Given the description of an element on the screen output the (x, y) to click on. 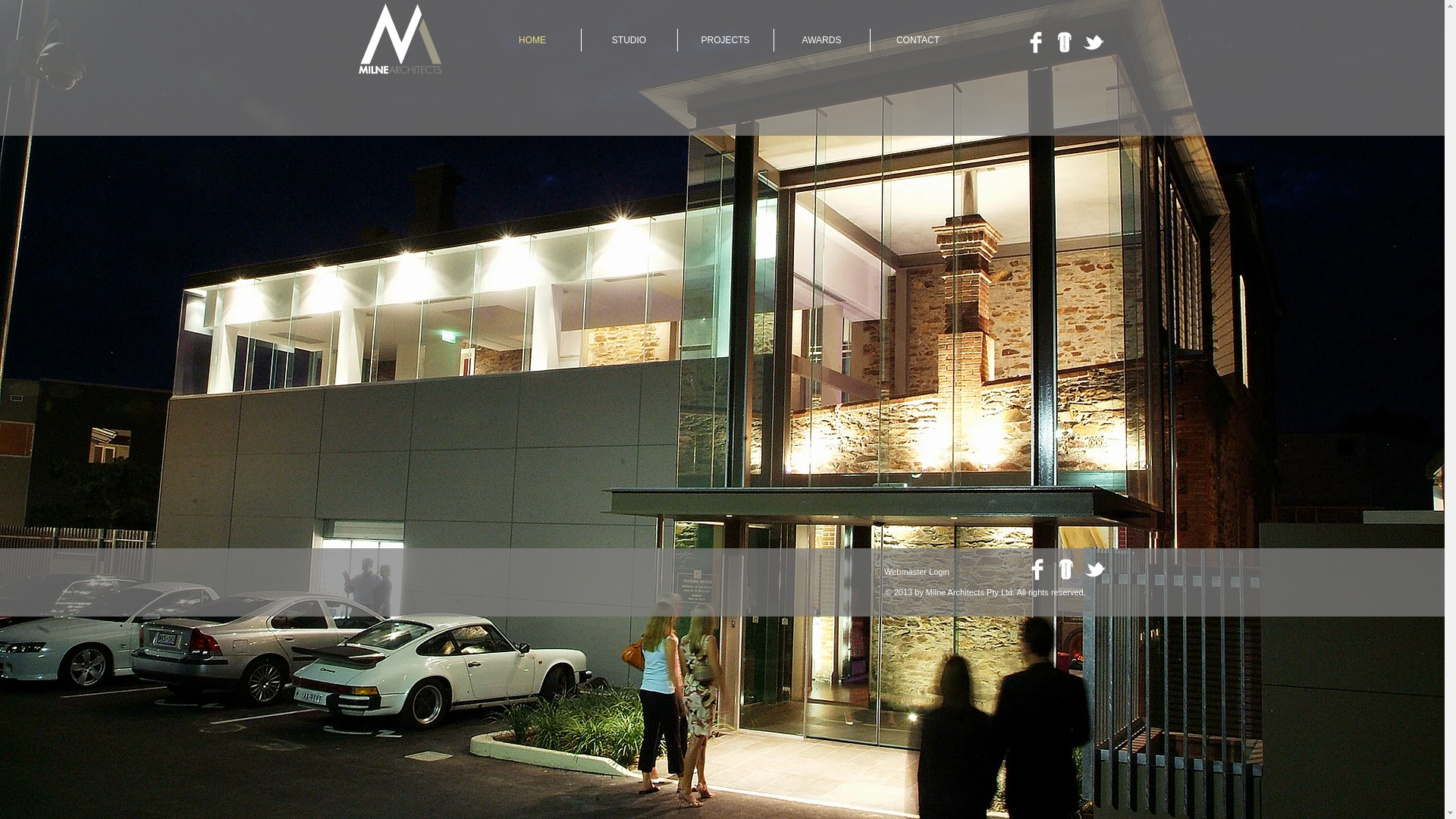
Milne Architects Element type: hover (397, 39)
PROJECTS Element type: text (725, 39)
CONTACT Element type: text (918, 39)
HOME Element type: text (531, 39)
AWARDS Element type: text (821, 39)
Webmaster Login Element type: text (916, 571)
STUDIO Element type: text (628, 39)
